Given the description of an element on the screen output the (x, y) to click on. 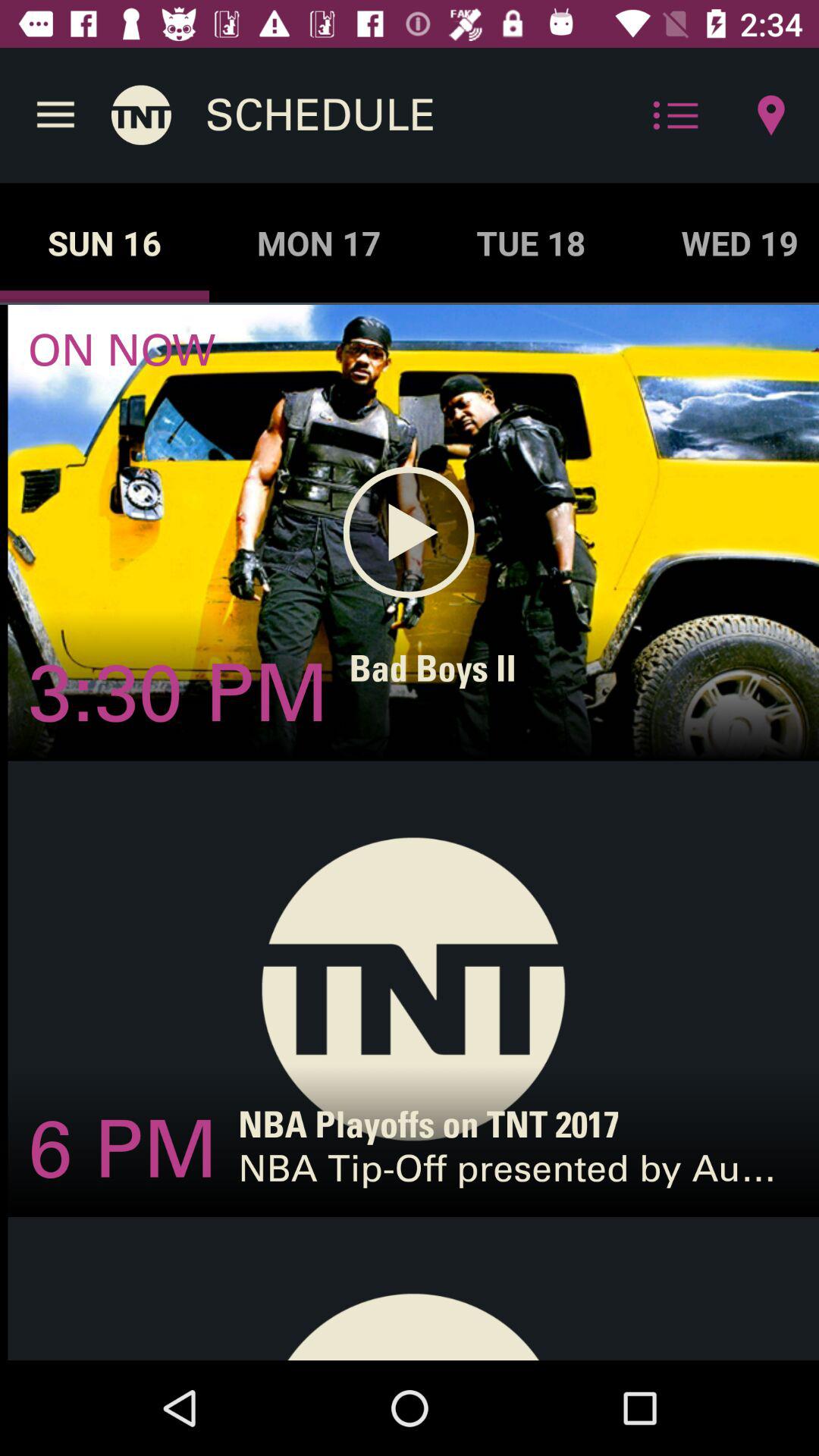
press the app to the right of sun 16 item (318, 242)
